Given the description of an element on the screen output the (x, y) to click on. 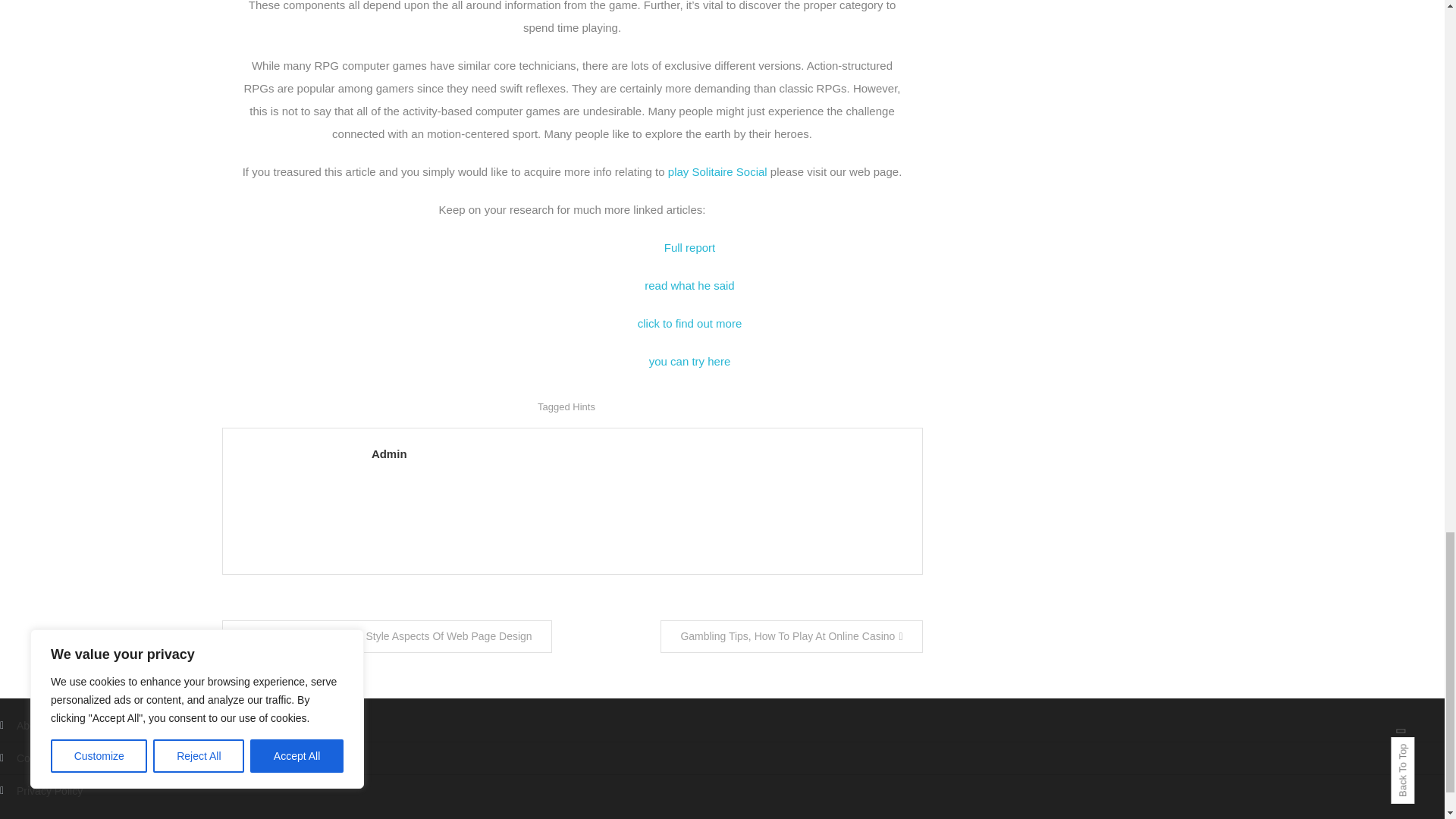
you can try here (689, 360)
The Various Design And Style Aspects Of Web Page Design (386, 635)
Admin (639, 453)
Hints (583, 406)
play Solitaire Social (717, 171)
click to find out more (689, 323)
read what he said (689, 285)
Gambling Tips, How To Play At Online Casino (791, 635)
Full report (689, 246)
